Given the description of an element on the screen output the (x, y) to click on. 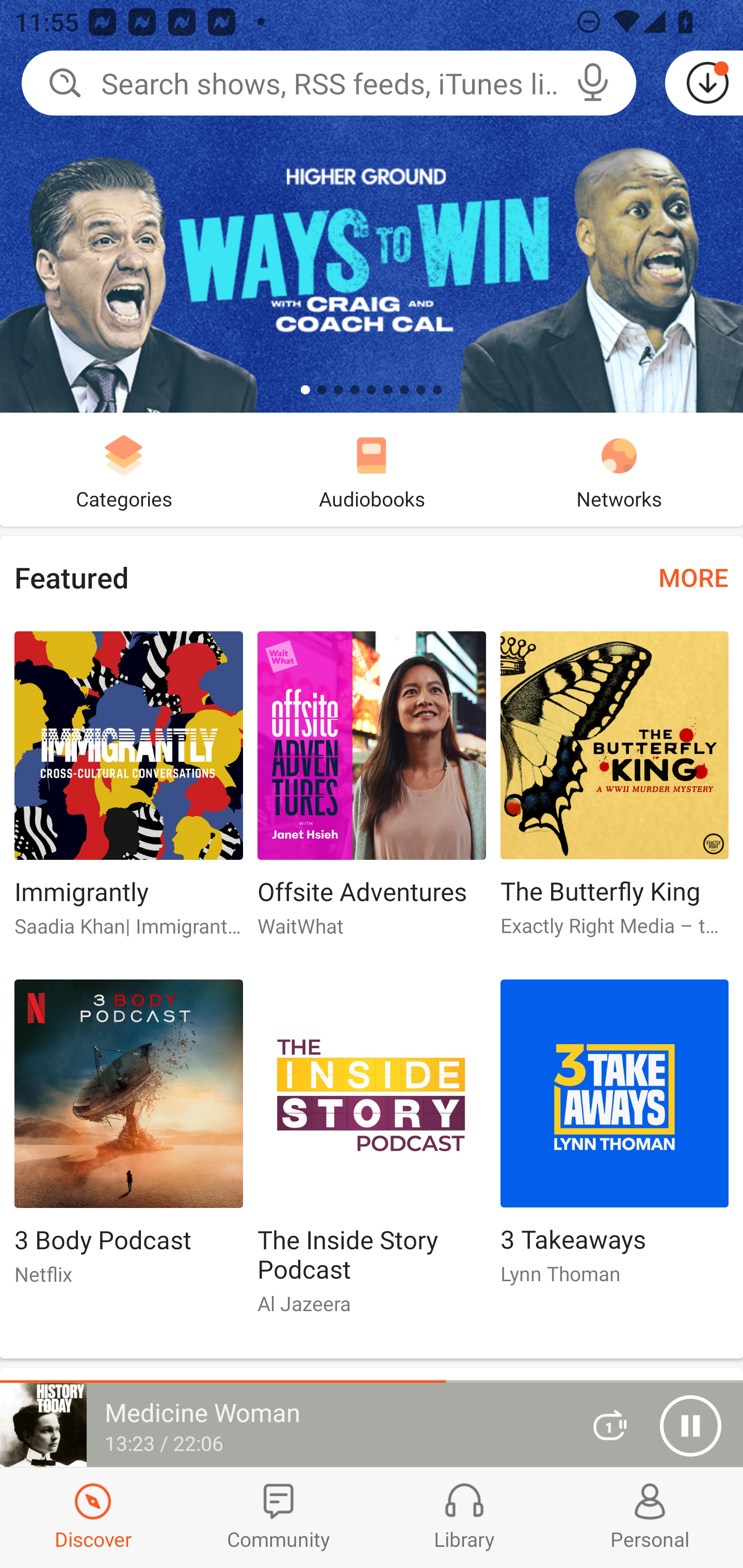
Ways To Win (371, 206)
Categories (123, 469)
Audiobooks (371, 469)
Networks (619, 469)
MORE (693, 576)
Offsite Adventures Offsite Adventures WaitWhat (371, 792)
3 Body Podcast 3 Body Podcast Netflix (128, 1140)
3 Takeaways 3 Takeaways Lynn Thoman (614, 1140)
Medicine Woman 13:23 / 22:06 (283, 1424)
Pause (690, 1425)
Discover (92, 1517)
Community (278, 1517)
Library (464, 1517)
Profiles and Settings Personal (650, 1517)
